Given the description of an element on the screen output the (x, y) to click on. 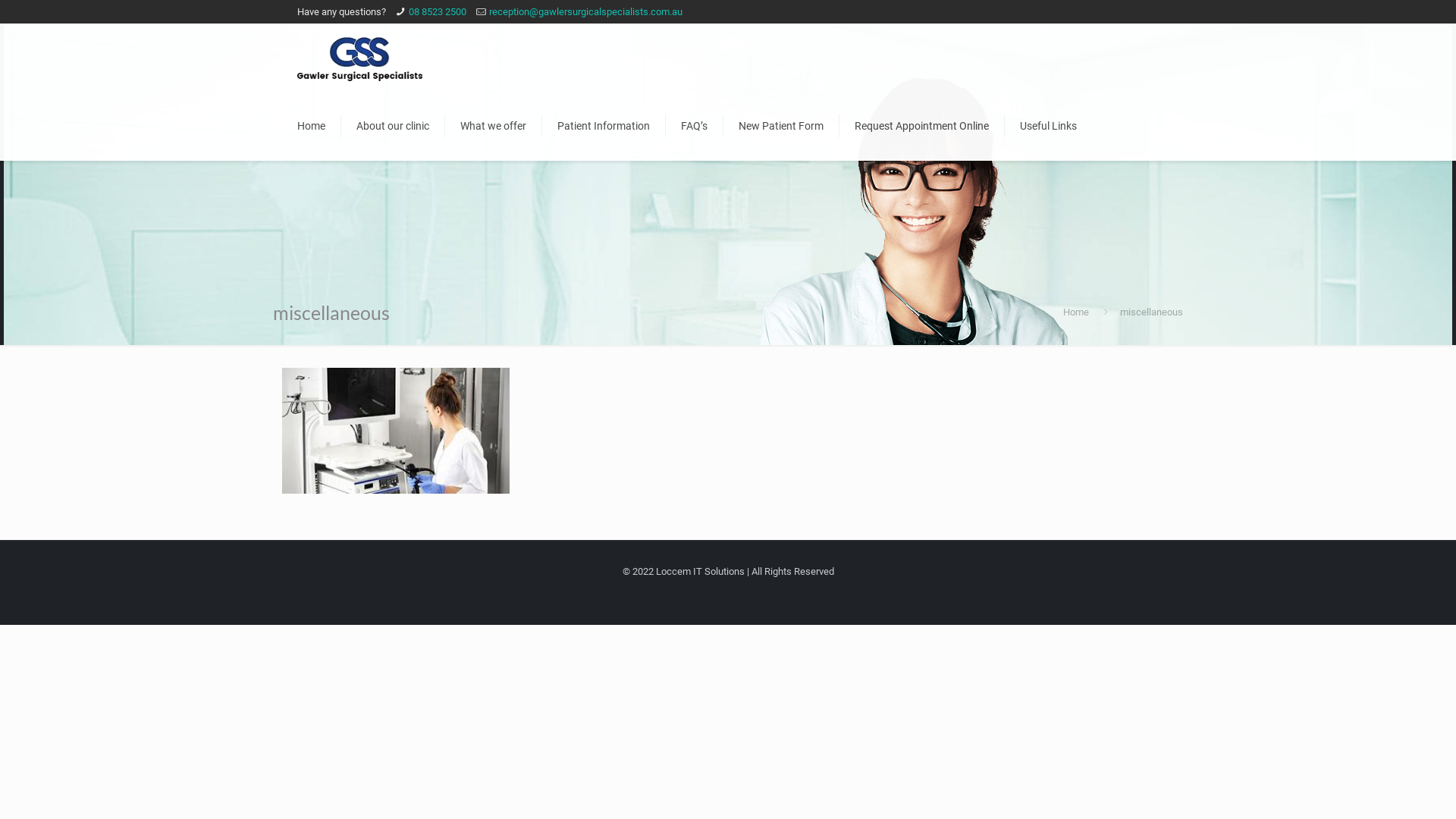
Home Element type: text (1075, 311)
Useful Links Element type: text (1048, 125)
Patient Information Element type: text (603, 125)
gawlersurgicalspecialists.com.au Element type: hover (359, 57)
Request Appointment Online Element type: text (921, 125)
Home Element type: text (311, 125)
About our clinic Element type: text (393, 125)
08 8523 2500 Element type: text (437, 11)
reception@gawlersurgicalspecialists.com.au Element type: text (585, 11)
New Patient Form Element type: text (781, 125)
What we offer Element type: text (493, 125)
